Given the description of an element on the screen output the (x, y) to click on. 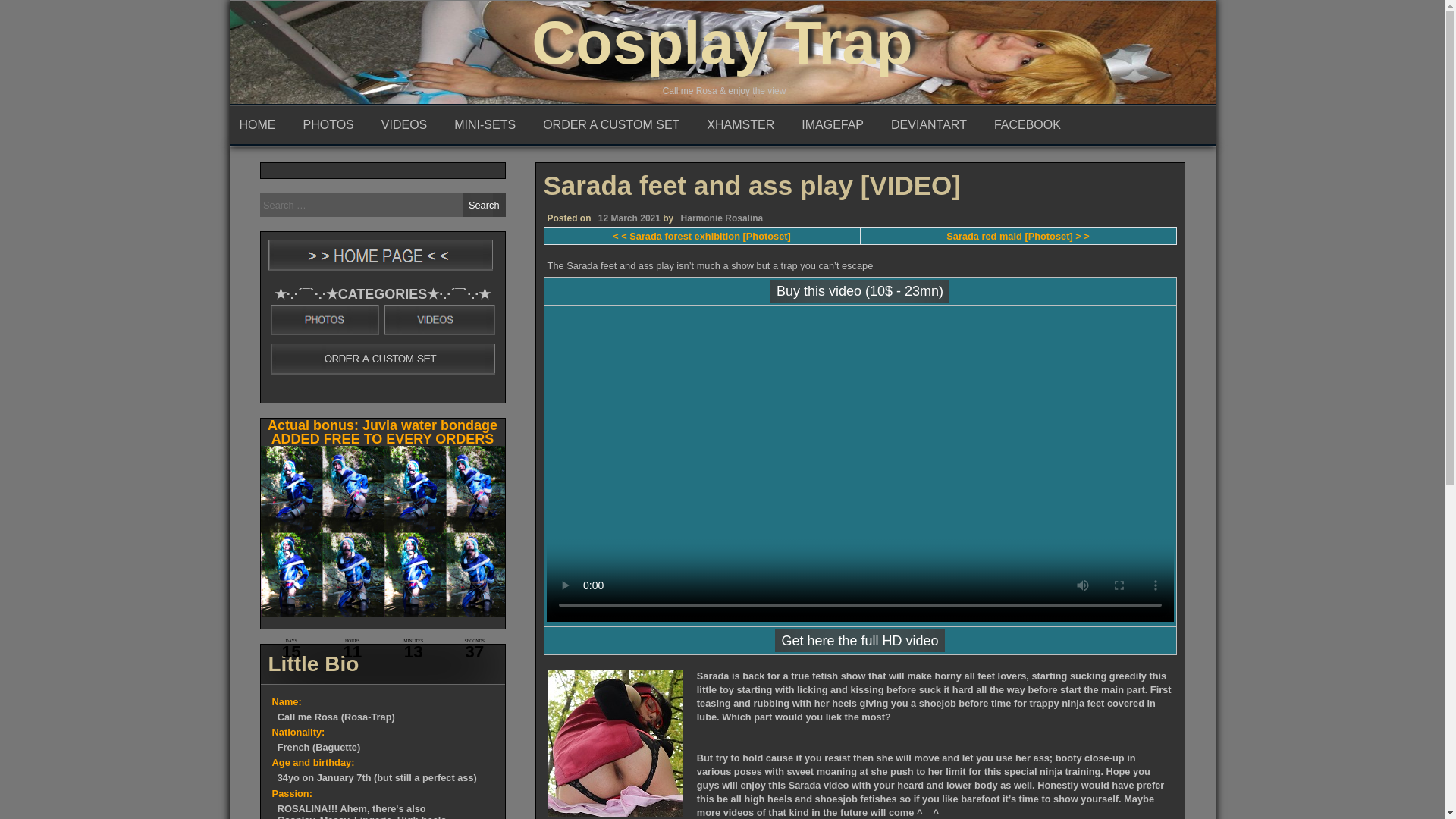
Search (484, 205)
PHOTOS (331, 125)
ORDER A CUSTOM SET (614, 125)
HOME (260, 125)
MINI-SETS (488, 125)
VIDEOS (407, 125)
Cosplay Trap (721, 42)
IMAGEFAP (836, 125)
Harmonie Rosalina (721, 375)
DEVIANTART (932, 125)
